Given the description of an element on the screen output the (x, y) to click on. 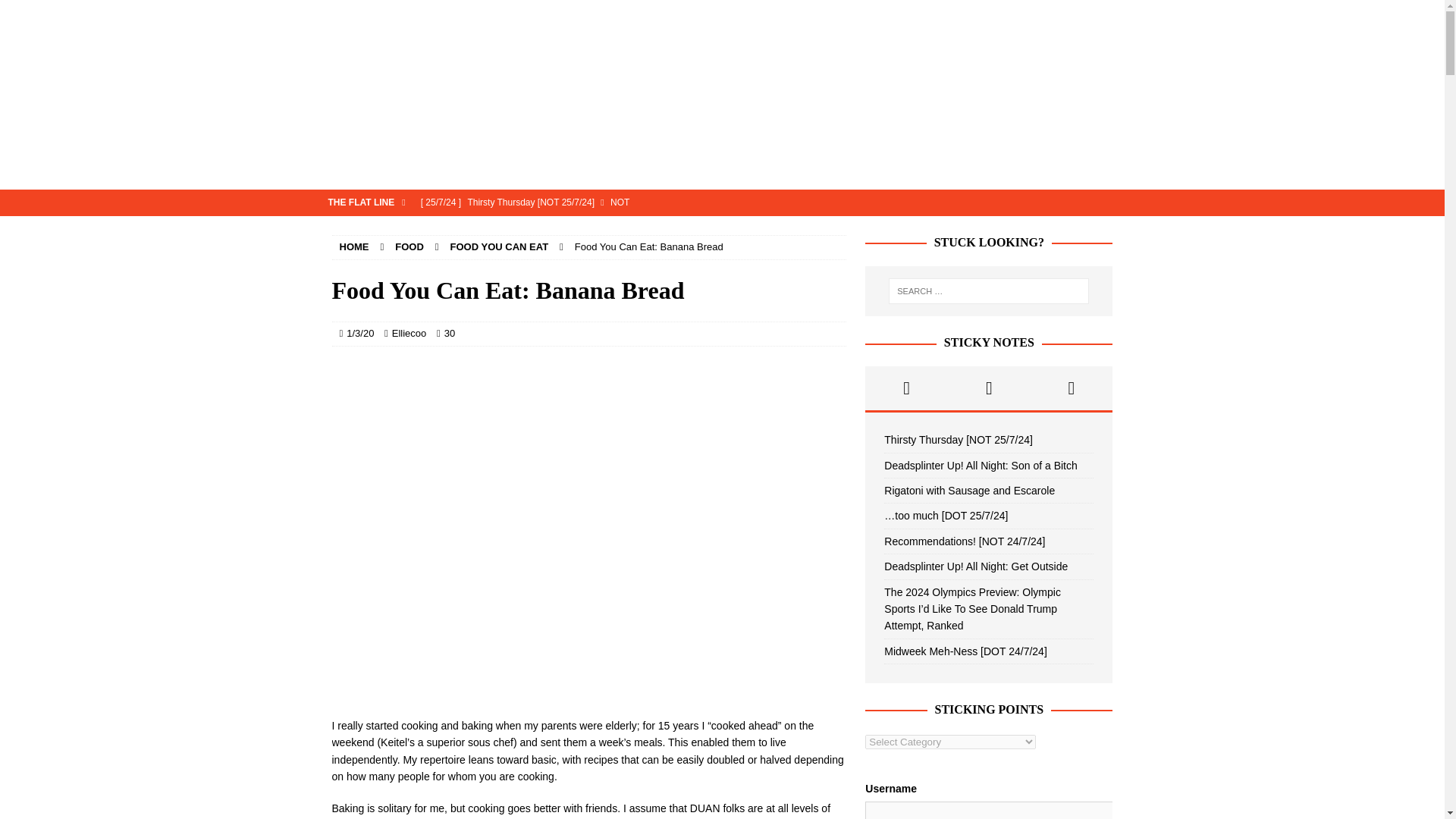
Elliecoo (408, 333)
30 (449, 333)
HOME (354, 246)
FOOD YOU CAN EAT (498, 246)
FOOD (408, 246)
Deadsplinter Up! All Night: Son of a Bitch (628, 227)
DeadSplinter (722, 181)
